Given the description of an element on the screen output the (x, y) to click on. 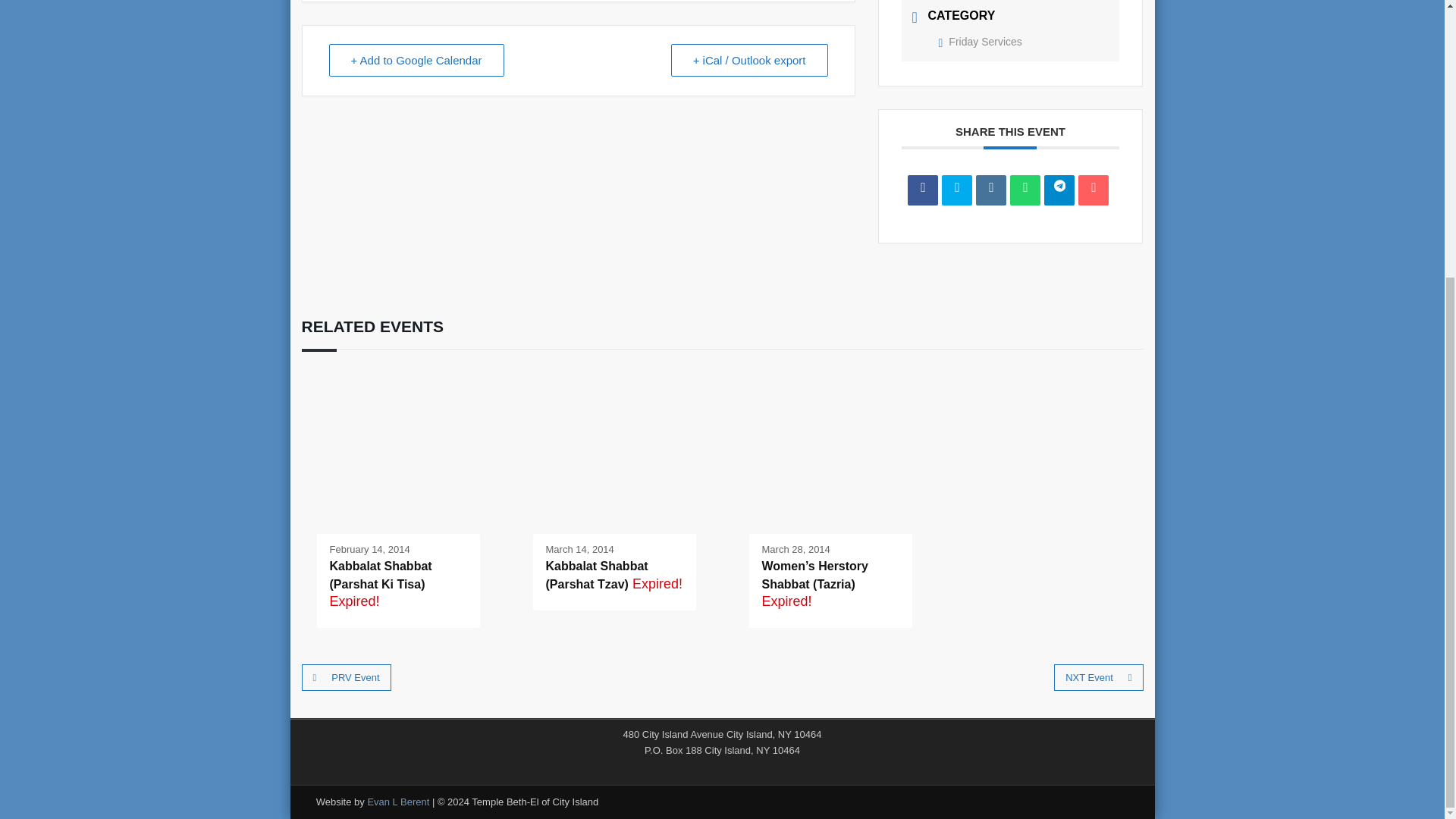
Share on Telegram (1058, 190)
Email (1093, 190)
Share on WhatsApp (1025, 190)
Linkedin (990, 190)
Share on Facebook (922, 190)
Tweet (957, 190)
RSS Feed (721, 769)
